Given the description of an element on the screen output the (x, y) to click on. 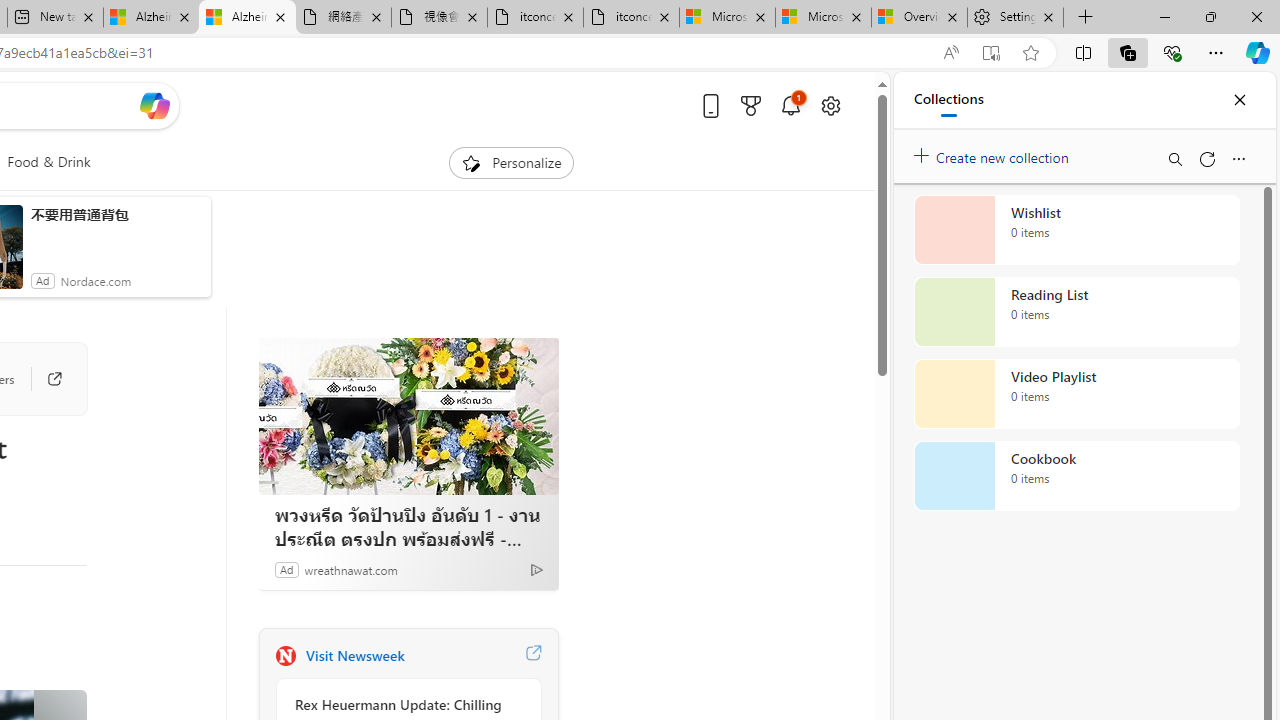
itconcepthk.com/projector_solutions.mp4 (631, 17)
Overview (918, 17)
